Given the description of an element on the screen output the (x, y) to click on. 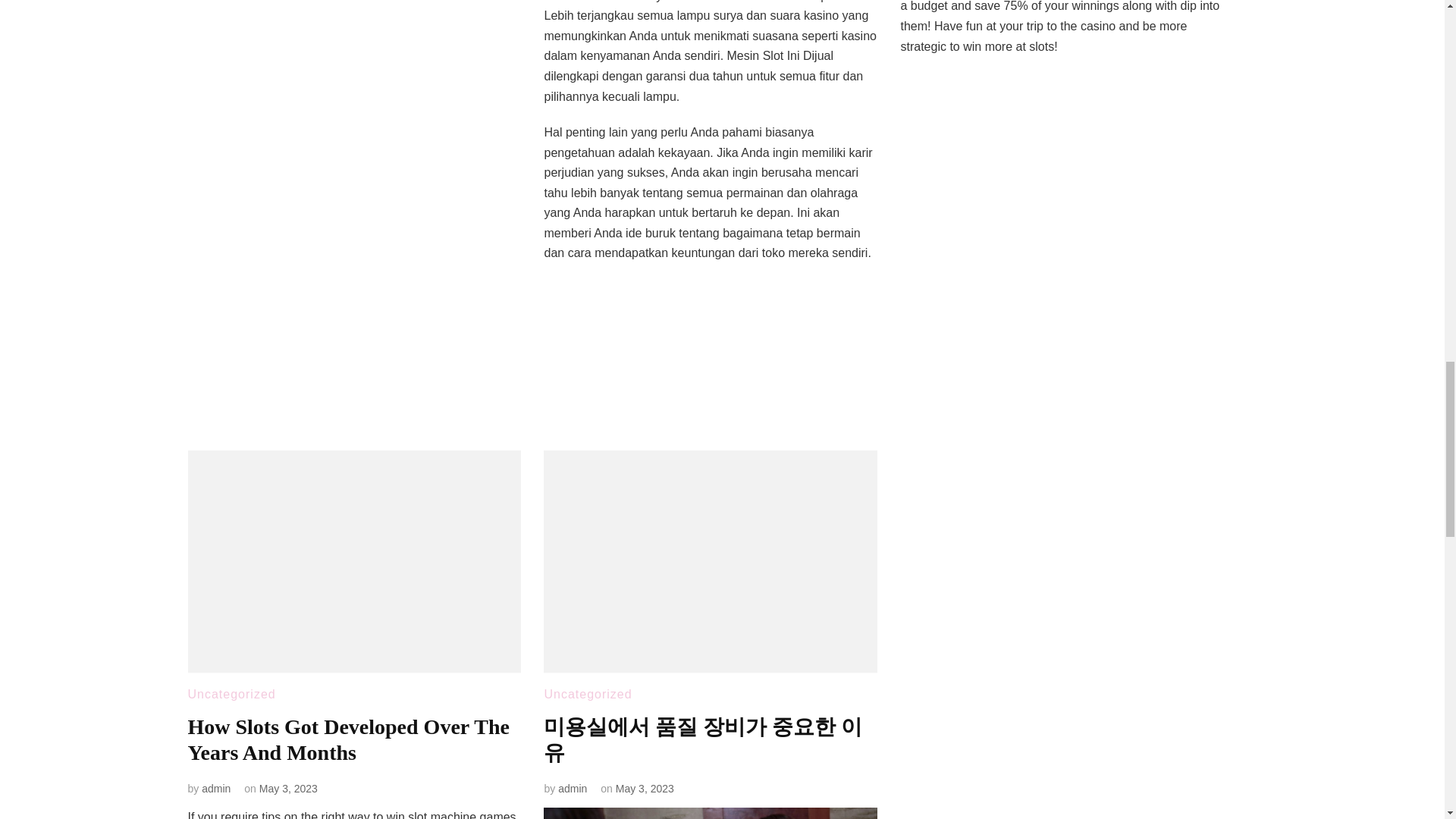
How Slots Got Developed Over The Years And Months (348, 739)
Uncategorized (231, 694)
Uncategorized (587, 694)
May 3, 2023 (288, 788)
admin (216, 788)
